Given the description of an element on the screen output the (x, y) to click on. 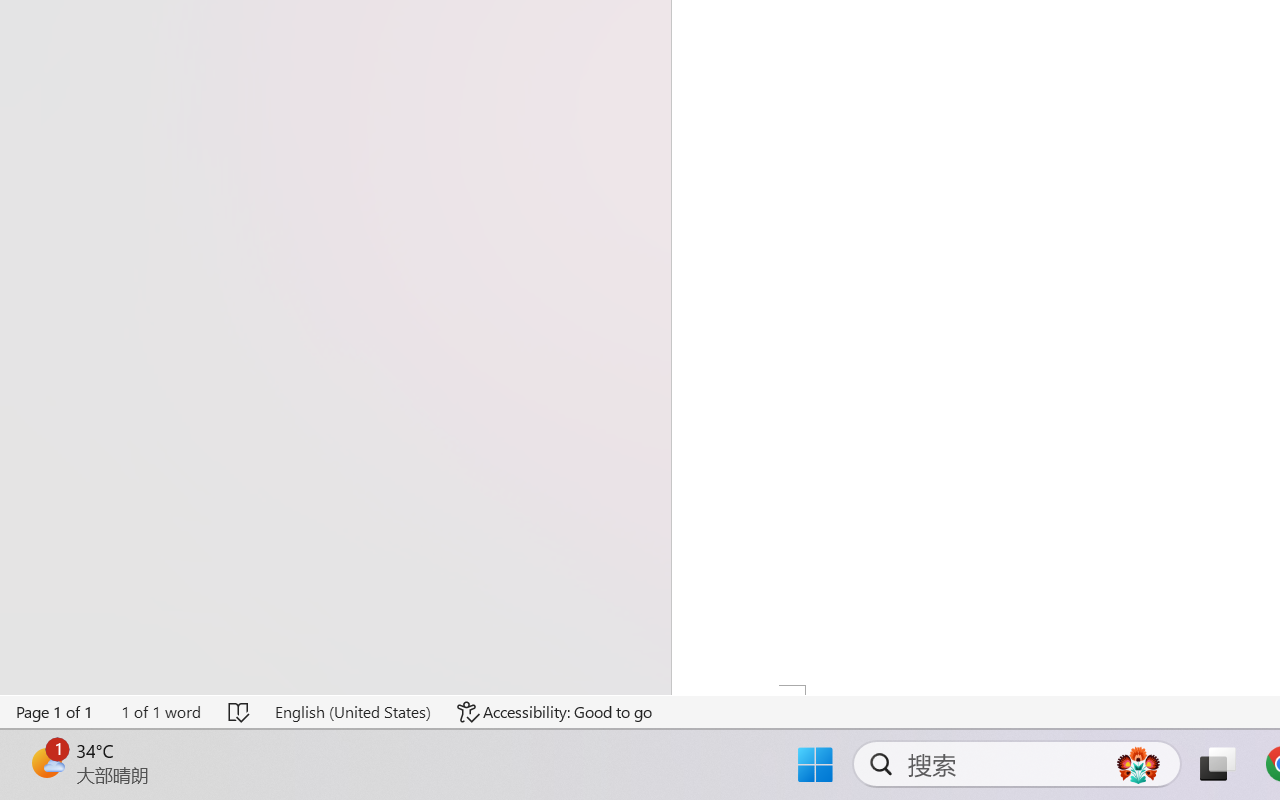
Page Number Page 1 of 1 (55, 712)
